Given the description of an element on the screen output the (x, y) to click on. 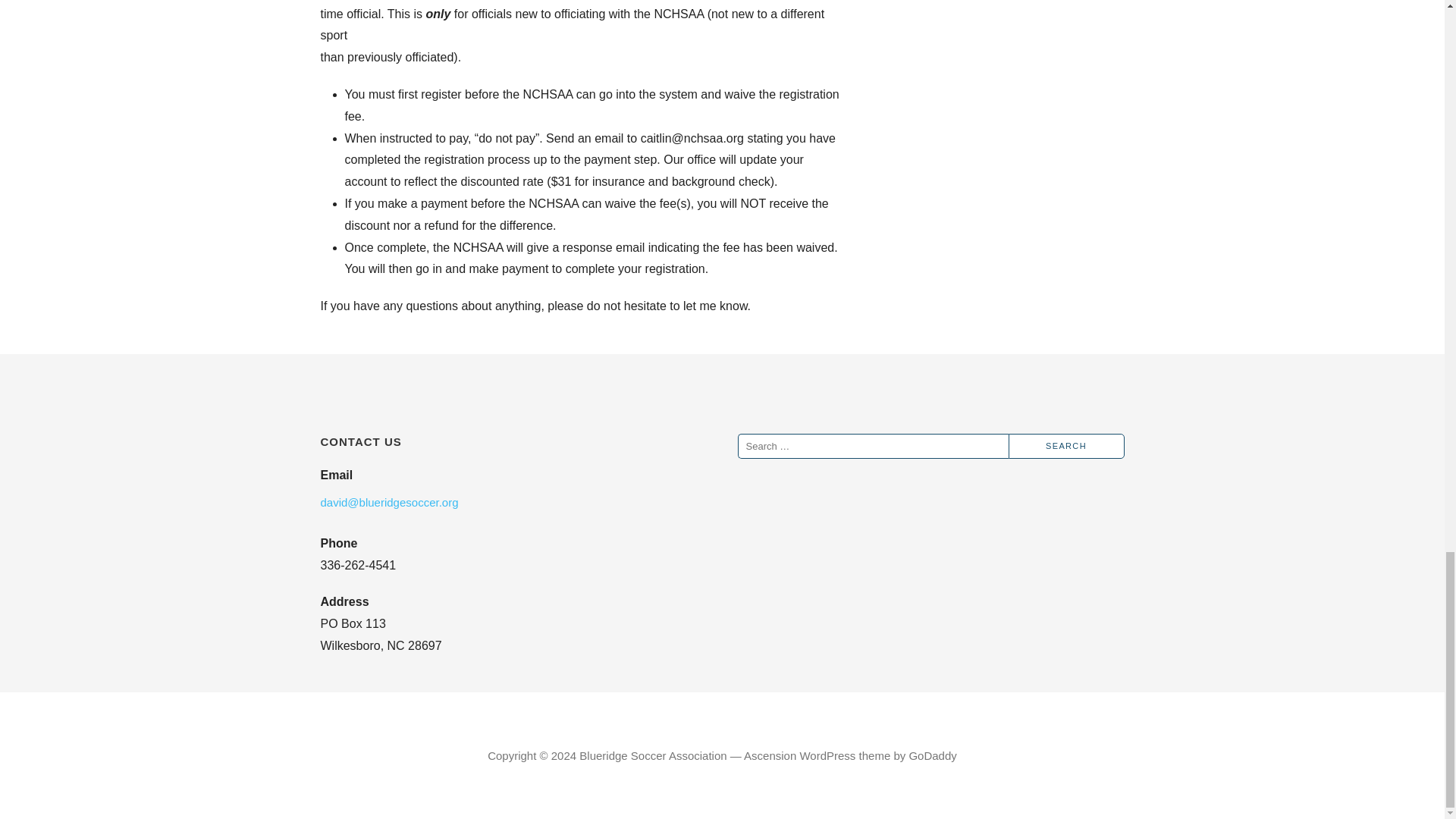
GoDaddy (932, 755)
Search (1066, 446)
Search (1066, 446)
Search (1066, 446)
